Given the description of an element on the screen output the (x, y) to click on. 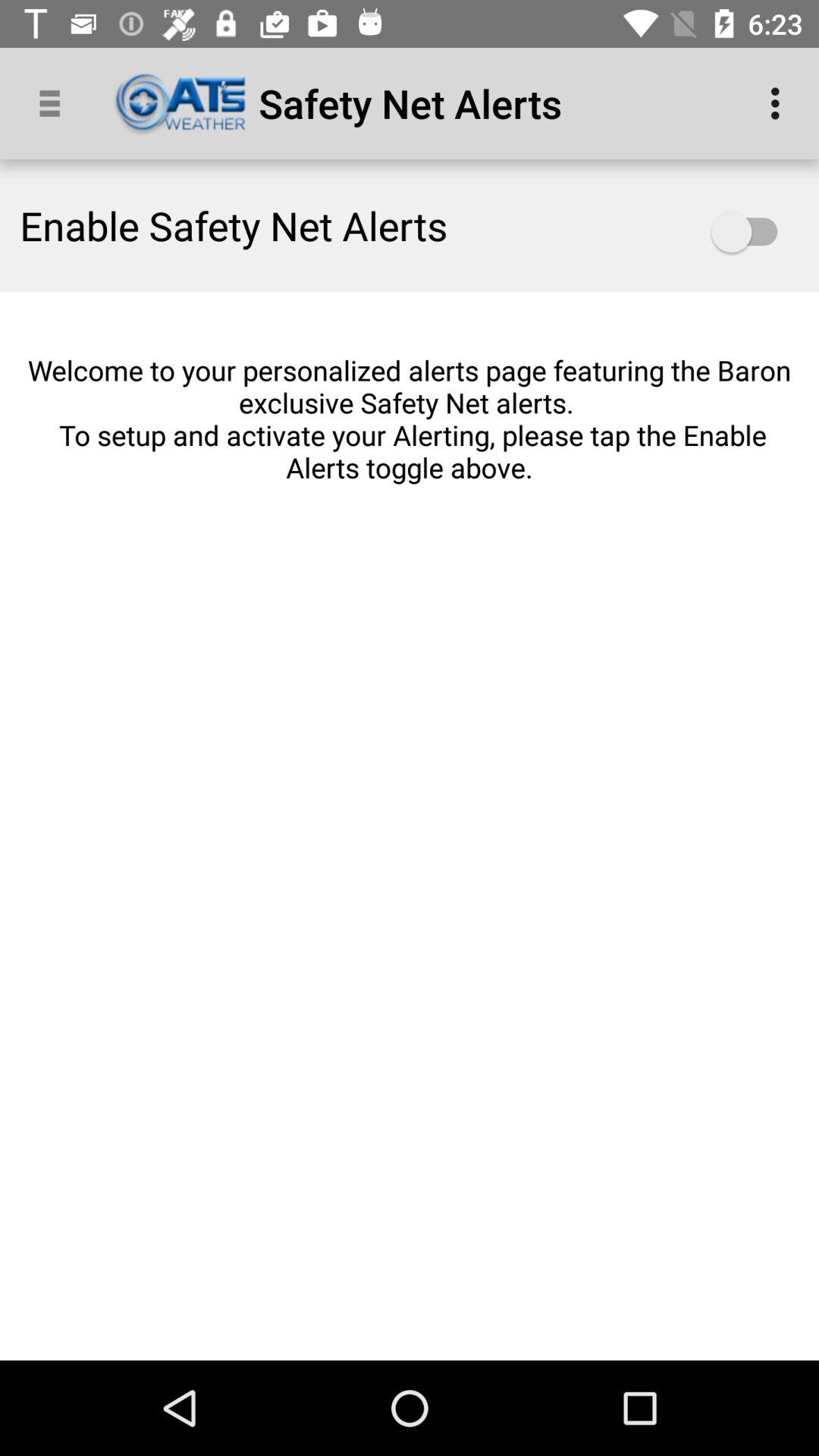
toggle safety alerts (751, 232)
